Given the description of an element on the screen output the (x, y) to click on. 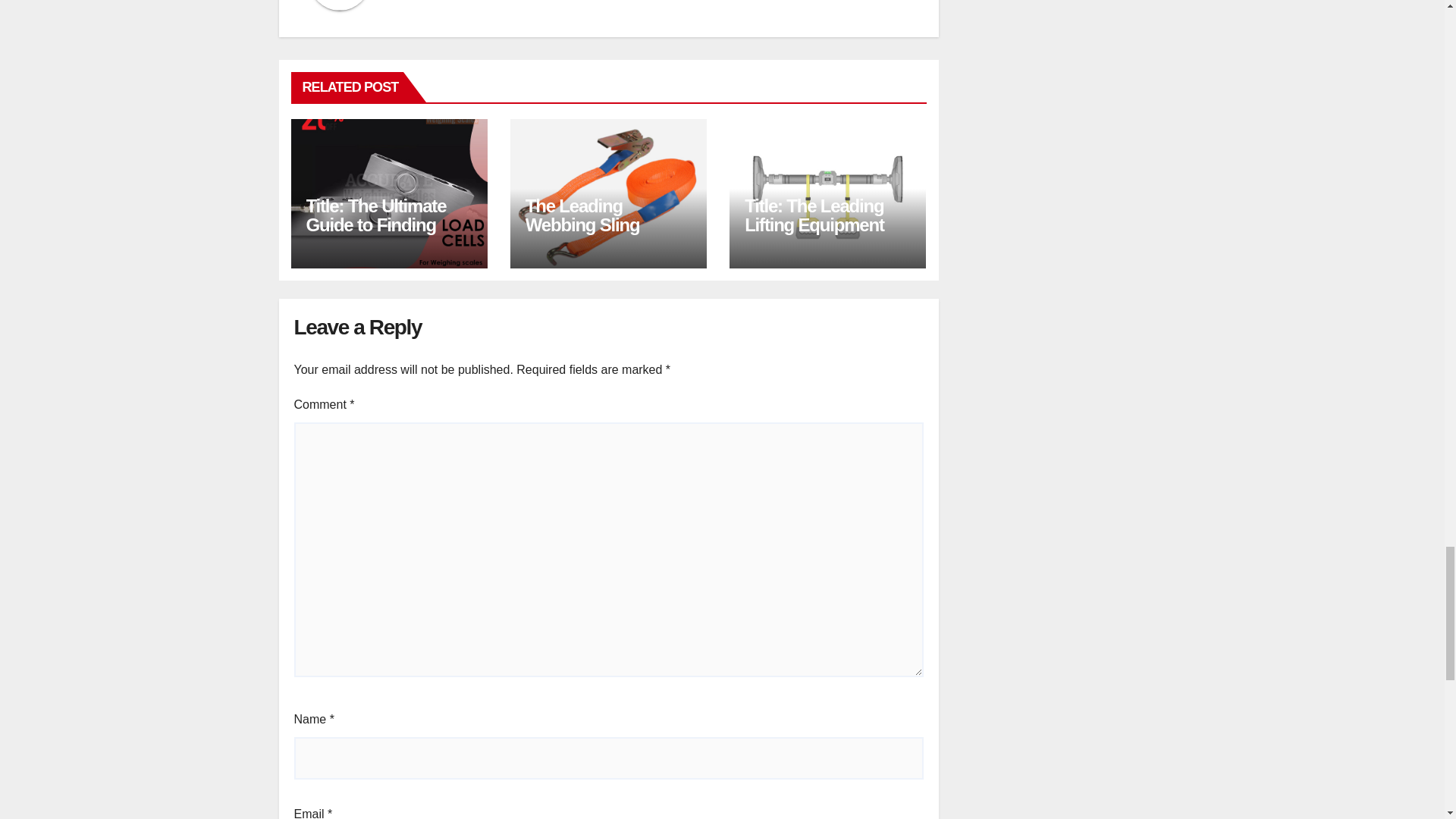
Title: The Leading Lifting Equipment Suppliers in the Market (813, 233)
